Given the description of an element on the screen output the (x, y) to click on. 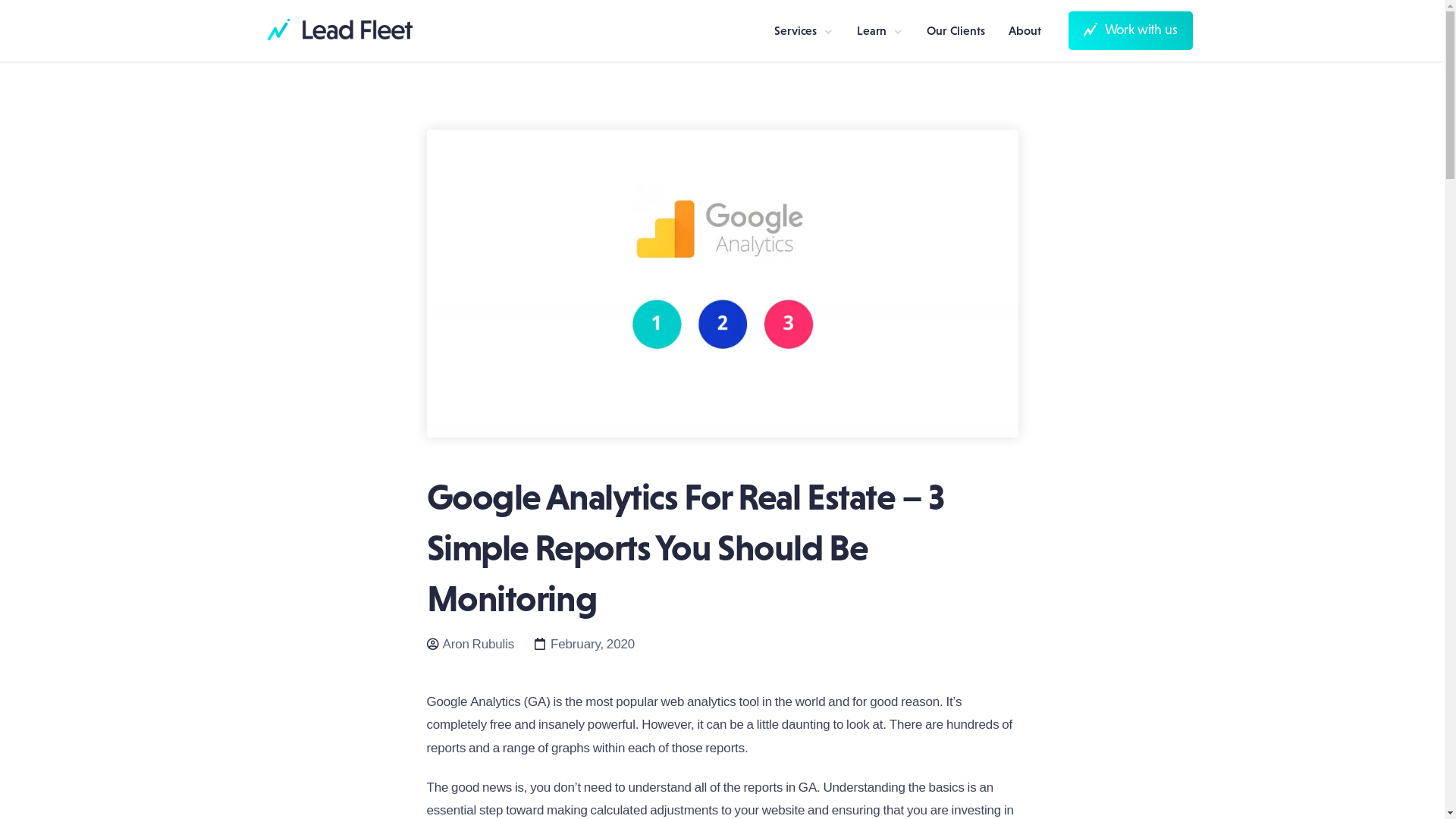
About Element type: text (1024, 30)
Our Clients Element type: text (955, 30)
Aron Rubulis Element type: text (470, 643)
February, 2020 Element type: text (584, 643)
